Given the description of an element on the screen output the (x, y) to click on. 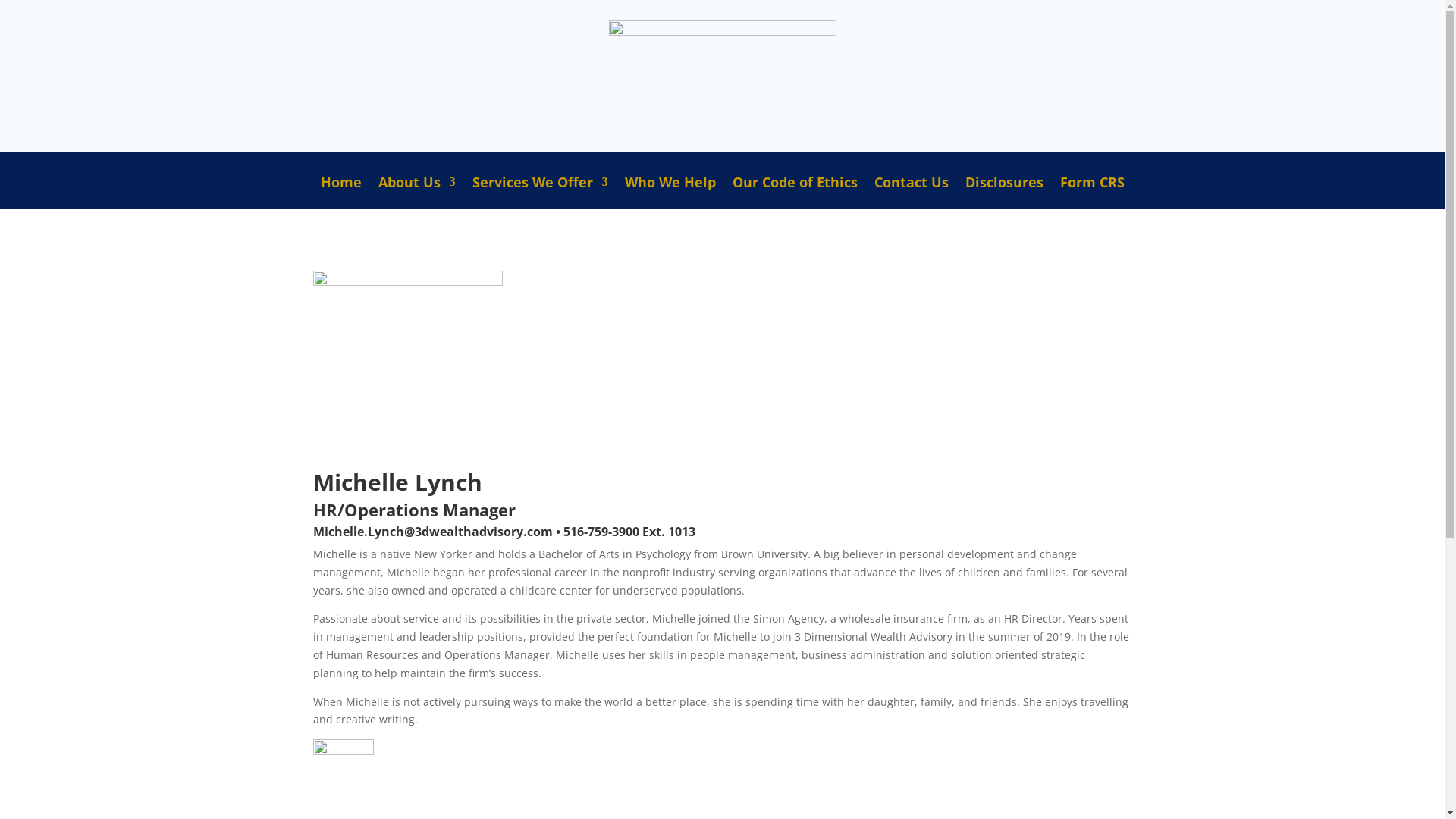
Contact Us Element type: text (910, 192)
Michelle.Lynch@3dwealthadvisory.com Element type: text (432, 531)
Who We Help Element type: text (669, 192)
Services We Offer Element type: text (539, 192)
Disclosures Element type: text (1003, 192)
Home Element type: text (340, 192)
3DW Element type: hover (721, 75)
About Us Element type: text (416, 192)
Form CRS Element type: text (1092, 192)
Our Code of Ethics Element type: text (794, 192)
